Given the description of an element on the screen output the (x, y) to click on. 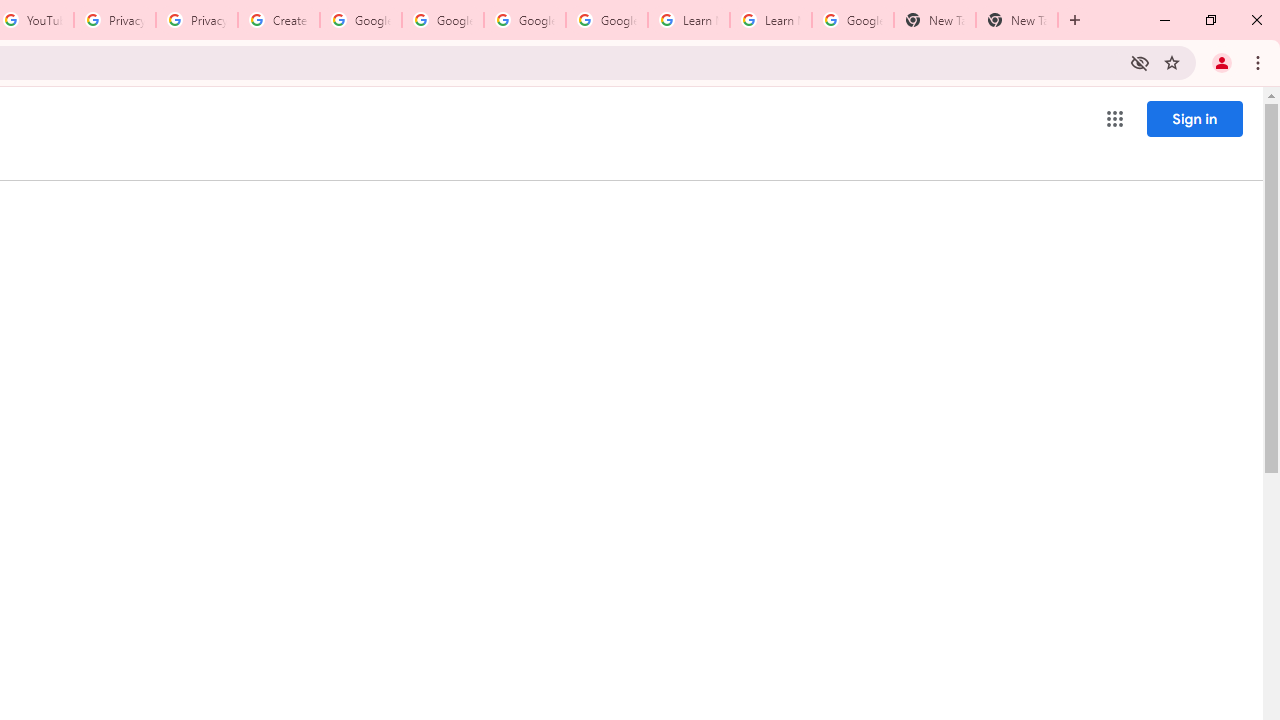
Google Account Help (606, 20)
Google Account (852, 20)
Google Account Help (360, 20)
Create your Google Account (278, 20)
